Given the description of an element on the screen output the (x, y) to click on. 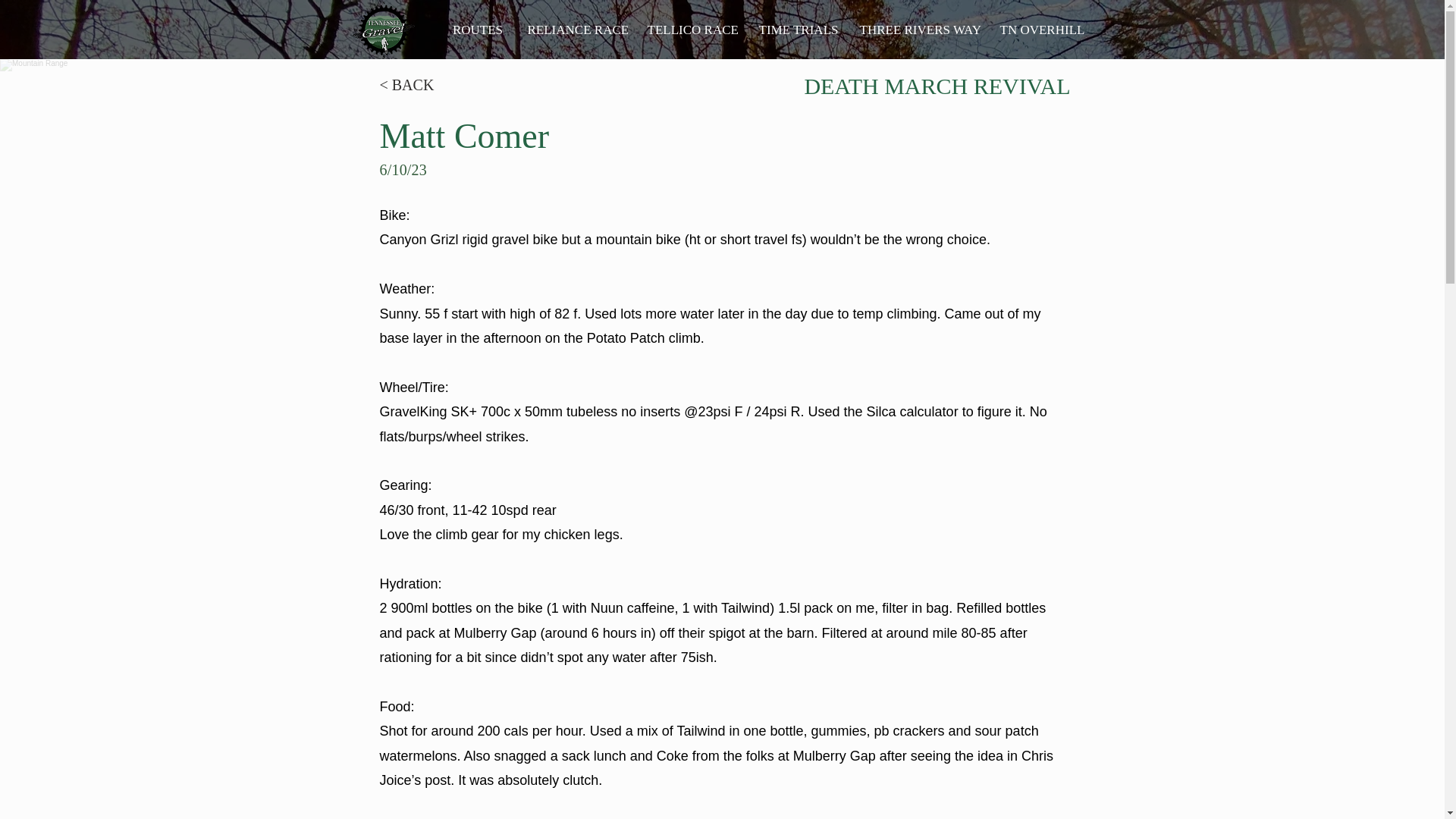
THREE RIVERS WAY (917, 30)
ROUTES (477, 30)
TN OVERHILL (1041, 30)
